Given the description of an element on the screen output the (x, y) to click on. 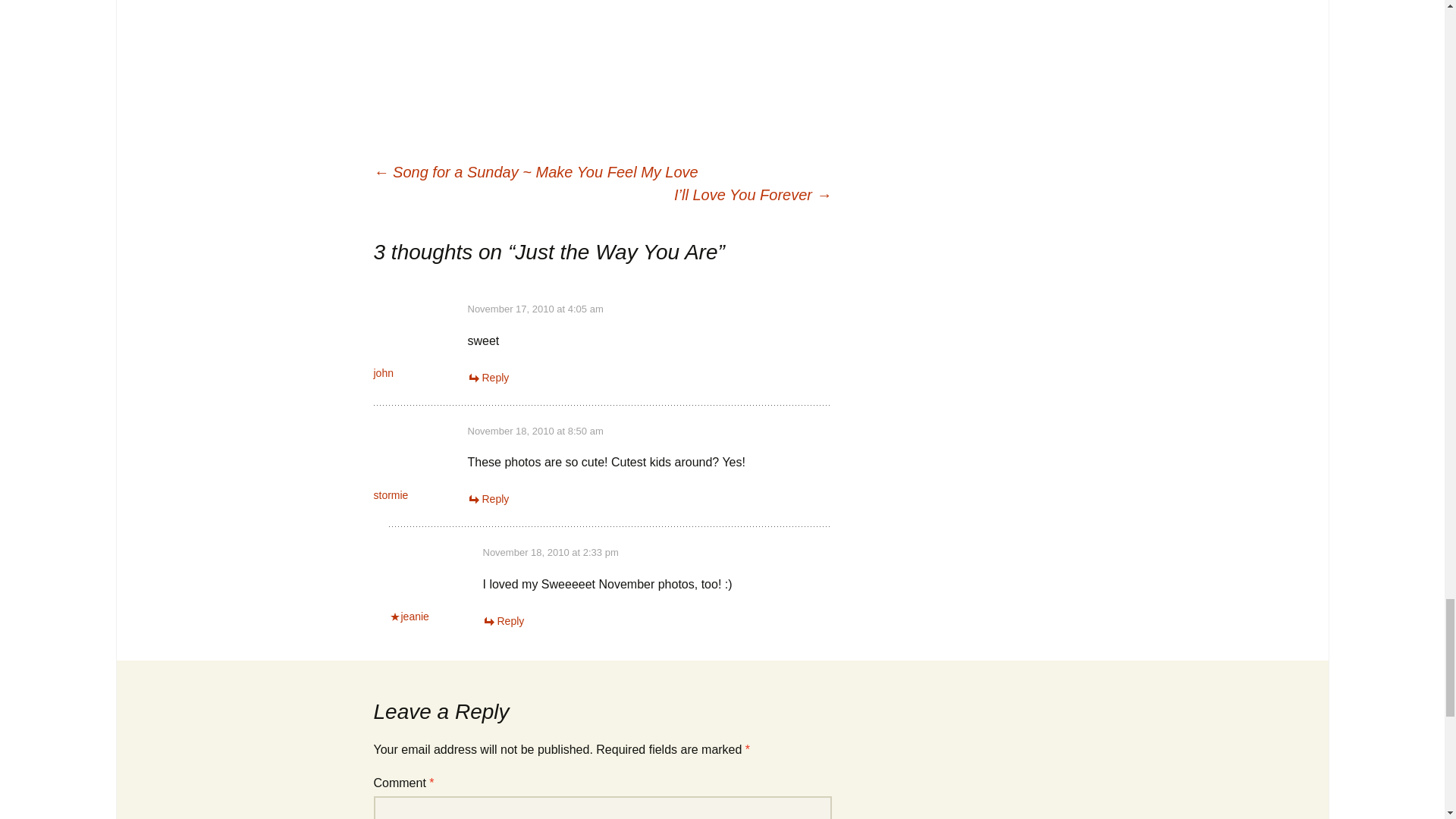
November 18, 2010 at 8:50 am (534, 430)
Reply (487, 499)
November 17, 2010 at 4:05 am (534, 308)
Reply (487, 377)
